Given the description of an element on the screen output the (x, y) to click on. 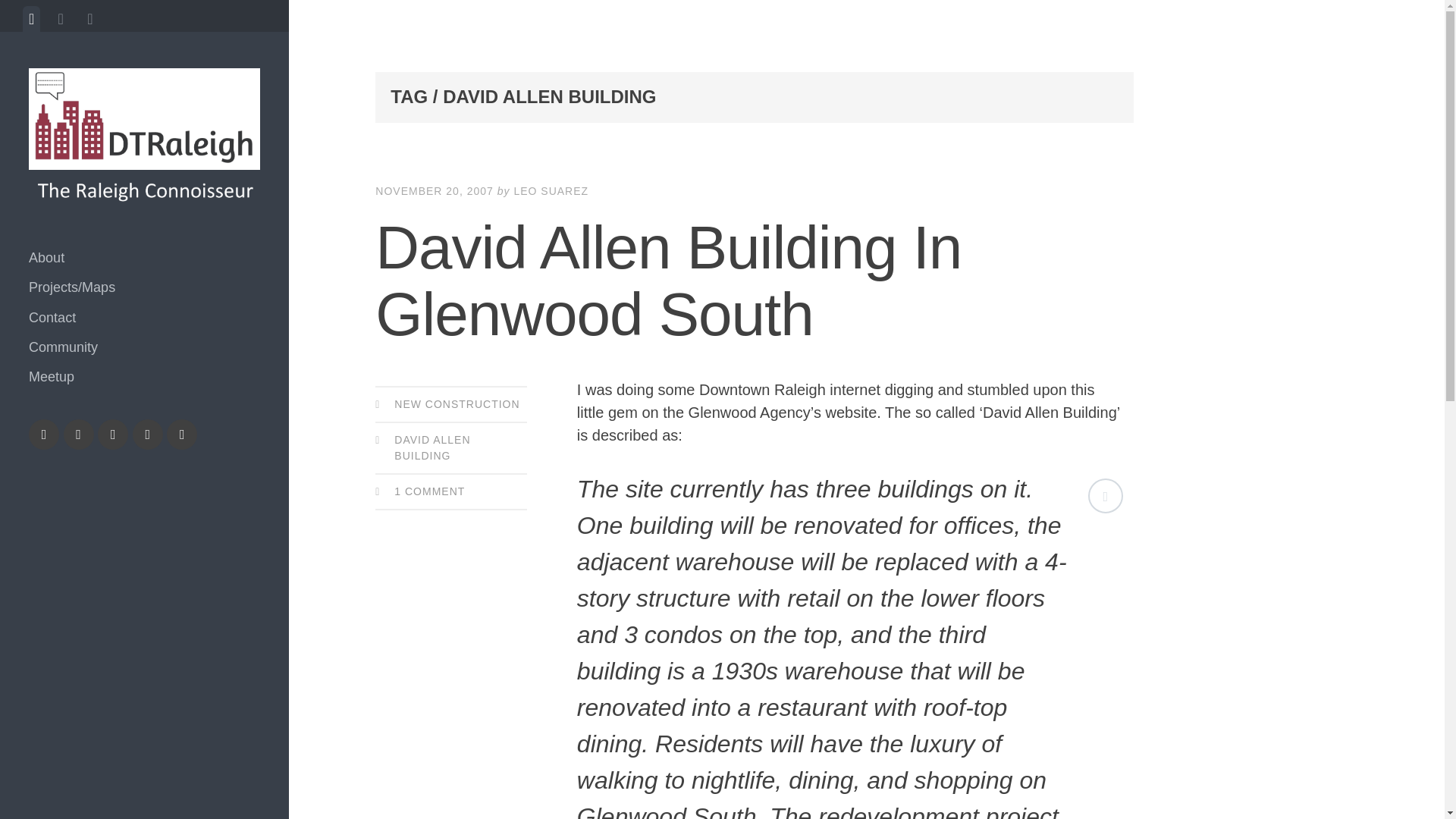
Contact (144, 317)
Twitter (44, 434)
Email (181, 434)
Instagram (79, 434)
RSS Feed (147, 434)
About (144, 257)
Community (144, 347)
Meetup (144, 377)
Github (112, 434)
